Given the description of an element on the screen output the (x, y) to click on. 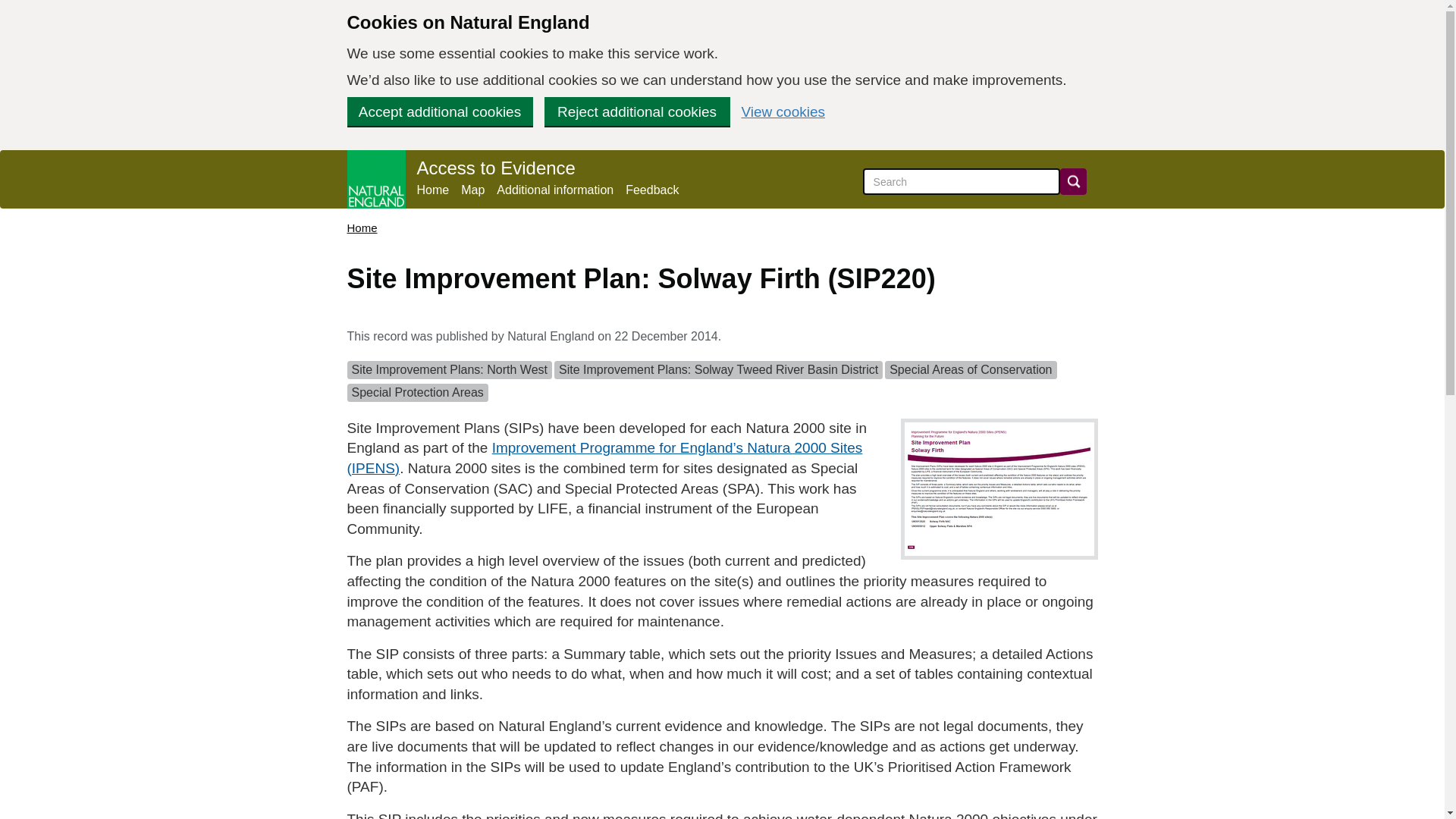
Site Improvement Plans: North West (449, 369)
Site-wide search (961, 181)
Map (472, 190)
Skip to main content (11, 7)
Access to Evidence (495, 167)
Go to the Natural England homepage. (376, 178)
Reject additional cookies (637, 111)
Record categories (722, 383)
title tooltip (605, 457)
Special Areas of Conservation (971, 369)
Accept additional cookies (439, 111)
View cookies (783, 111)
Special Protection Areas (417, 391)
Additional information (554, 190)
Site Improvement Plans: Solway Tweed River Basin District (718, 369)
